Given the description of an element on the screen output the (x, y) to click on. 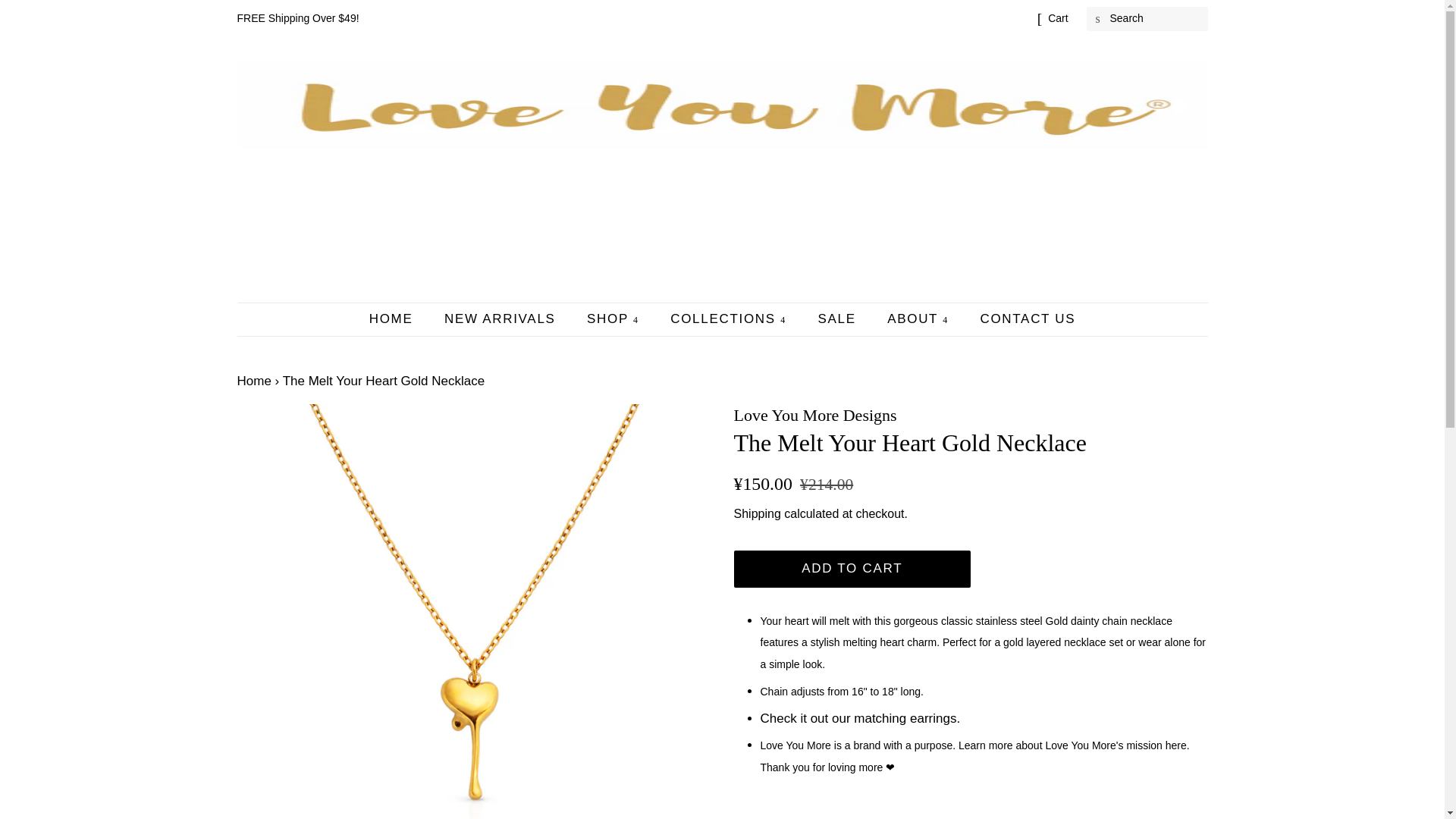
Cart (1057, 18)
Back to the frontpage (252, 380)
SEARCH (1097, 18)
